Given the description of an element on the screen output the (x, y) to click on. 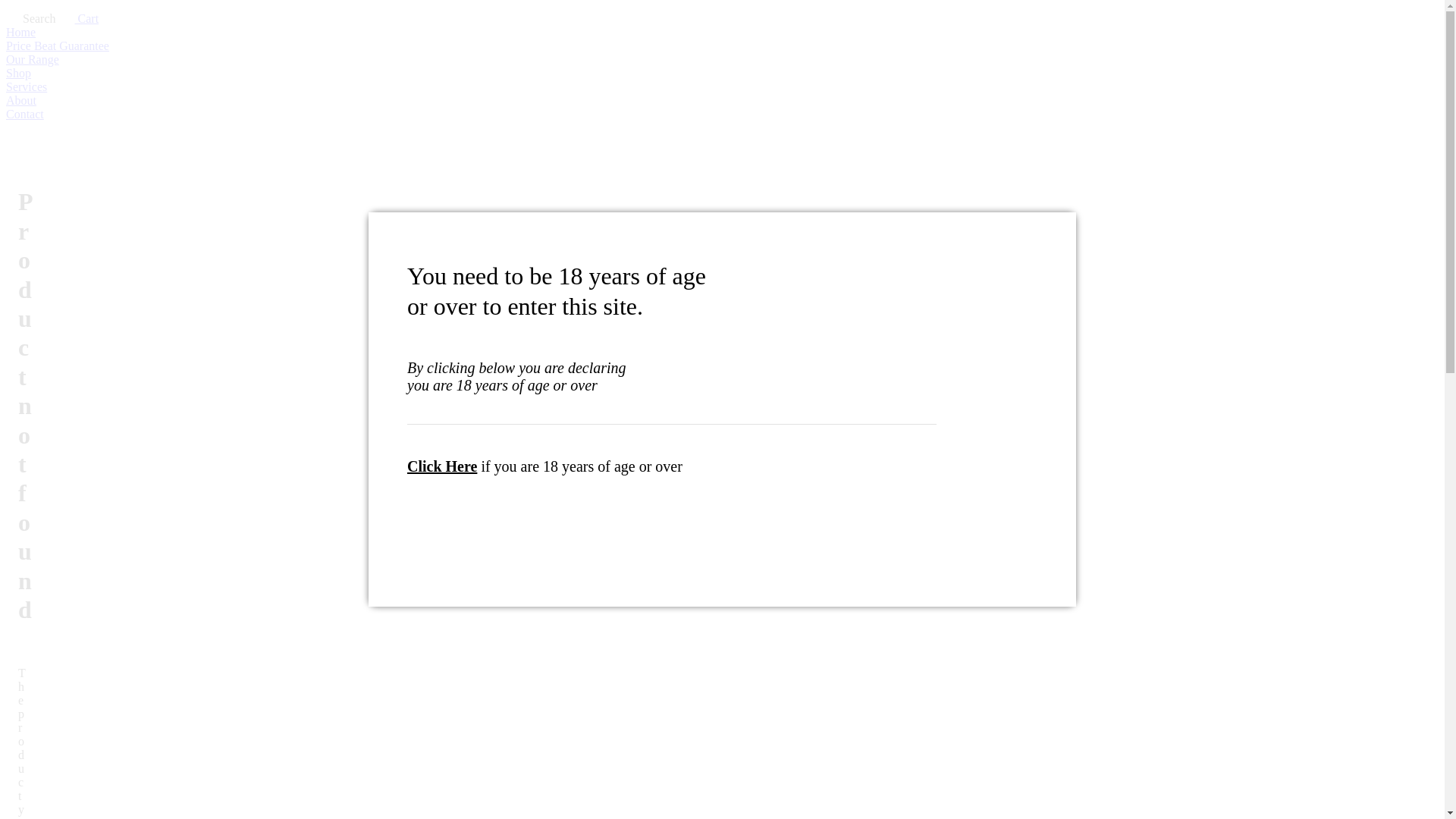
Search Element type: text (31, 18)
Price Beat Guarantee Element type: text (722, 46)
Contact Element type: text (722, 114)
Shop Element type: text (722, 73)
Home Element type: text (722, 32)
About Element type: text (722, 100)
Cart Element type: text (77, 18)
Services Element type: text (722, 87)
Our Range Element type: text (722, 59)
